Given the description of an element on the screen output the (x, y) to click on. 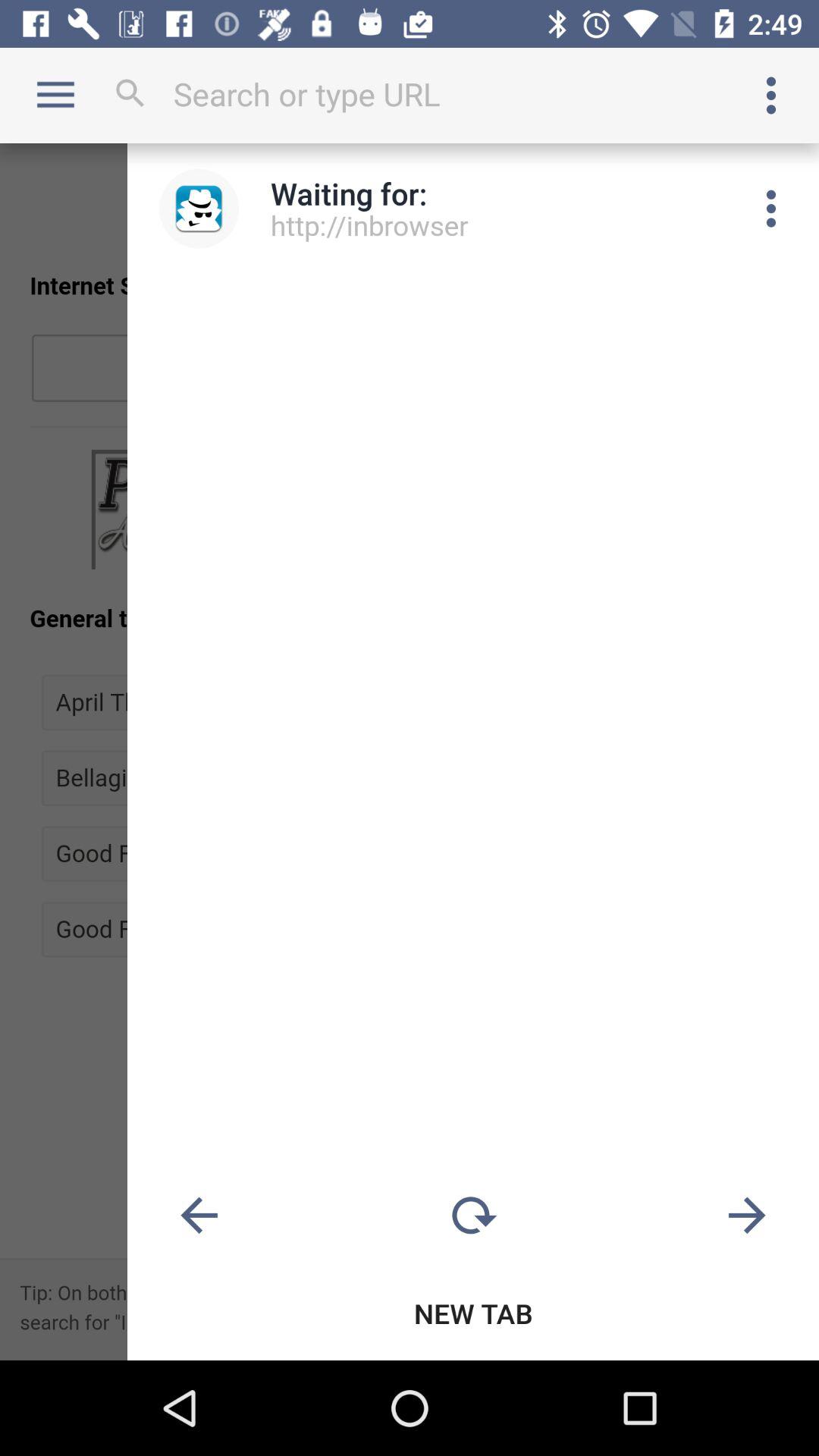
menu (771, 208)
